Given the description of an element on the screen output the (x, y) to click on. 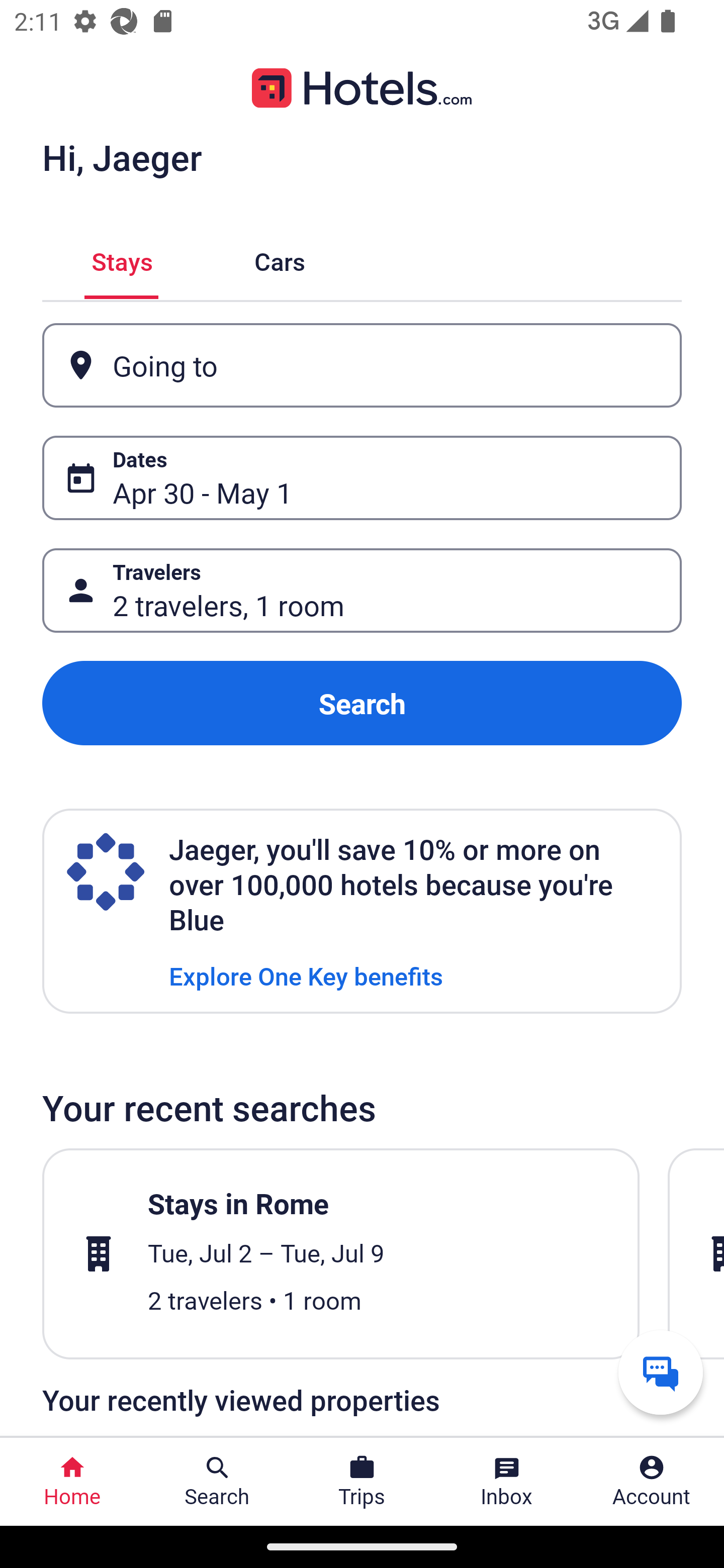
Hi, Jaeger (121, 156)
Cars (279, 259)
Going to Button (361, 365)
Dates Button Apr 30 - May 1 (361, 477)
Travelers Button 2 travelers, 1 room (361, 590)
Search (361, 702)
Get help from a virtual agent (660, 1371)
Search Search Button (216, 1481)
Trips Trips Button (361, 1481)
Inbox Inbox Button (506, 1481)
Account Profile. Button (651, 1481)
